Given the description of an element on the screen output the (x, y) to click on. 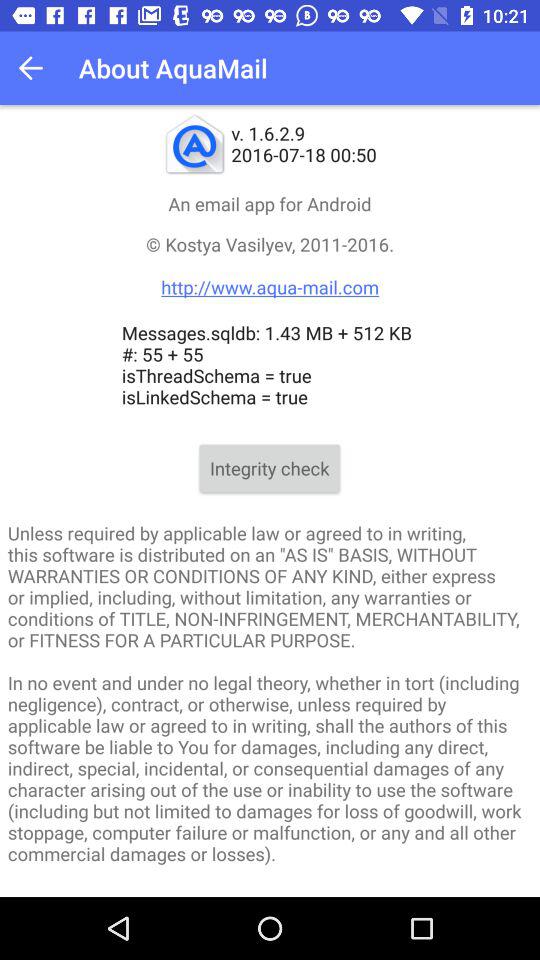
open item below the an email app (269, 265)
